Given the description of an element on the screen output the (x, y) to click on. 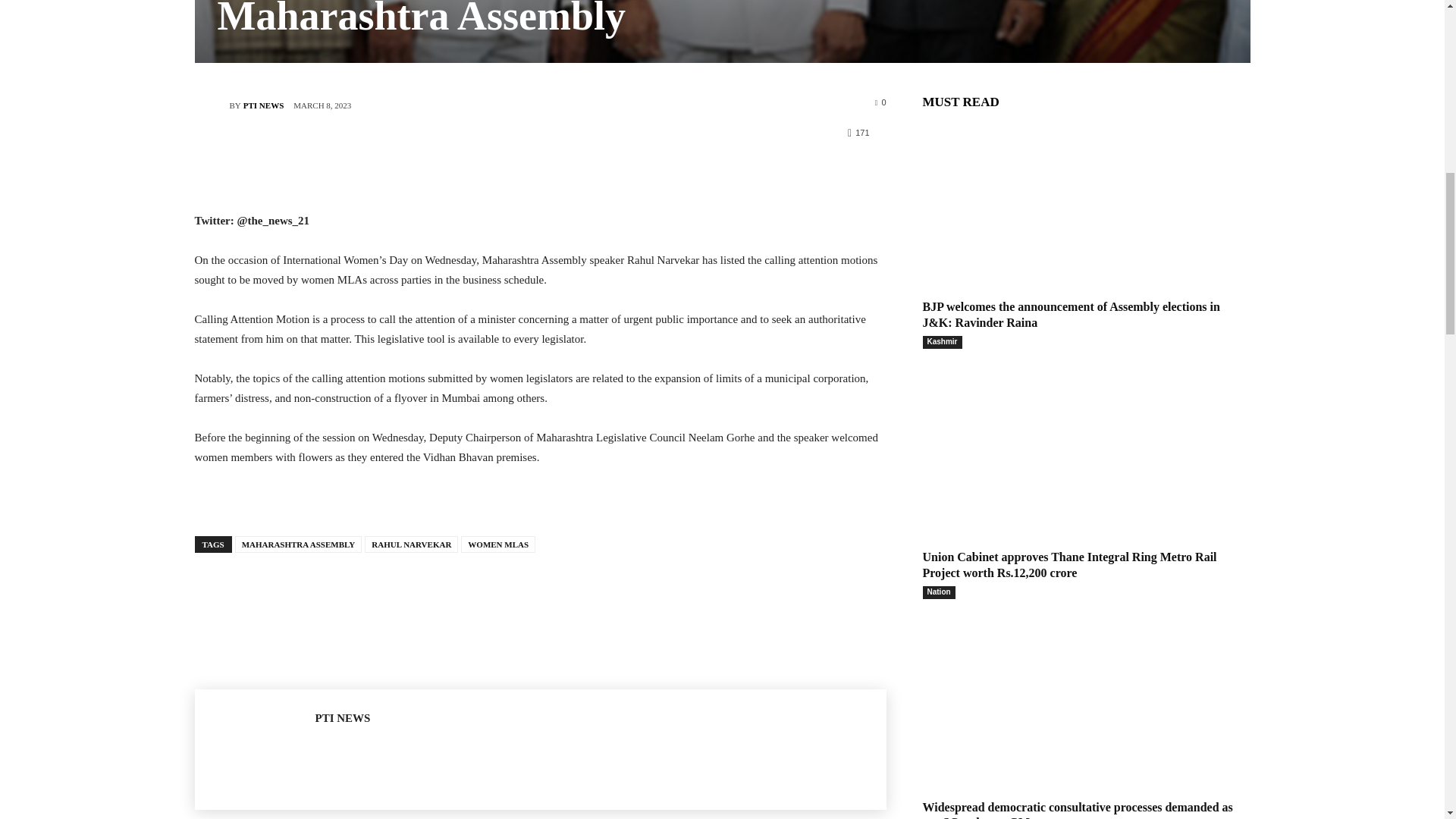
PTI NEWS (210, 105)
PTI NEWS (263, 105)
0 (880, 101)
